Given the description of an element on the screen output the (x, y) to click on. 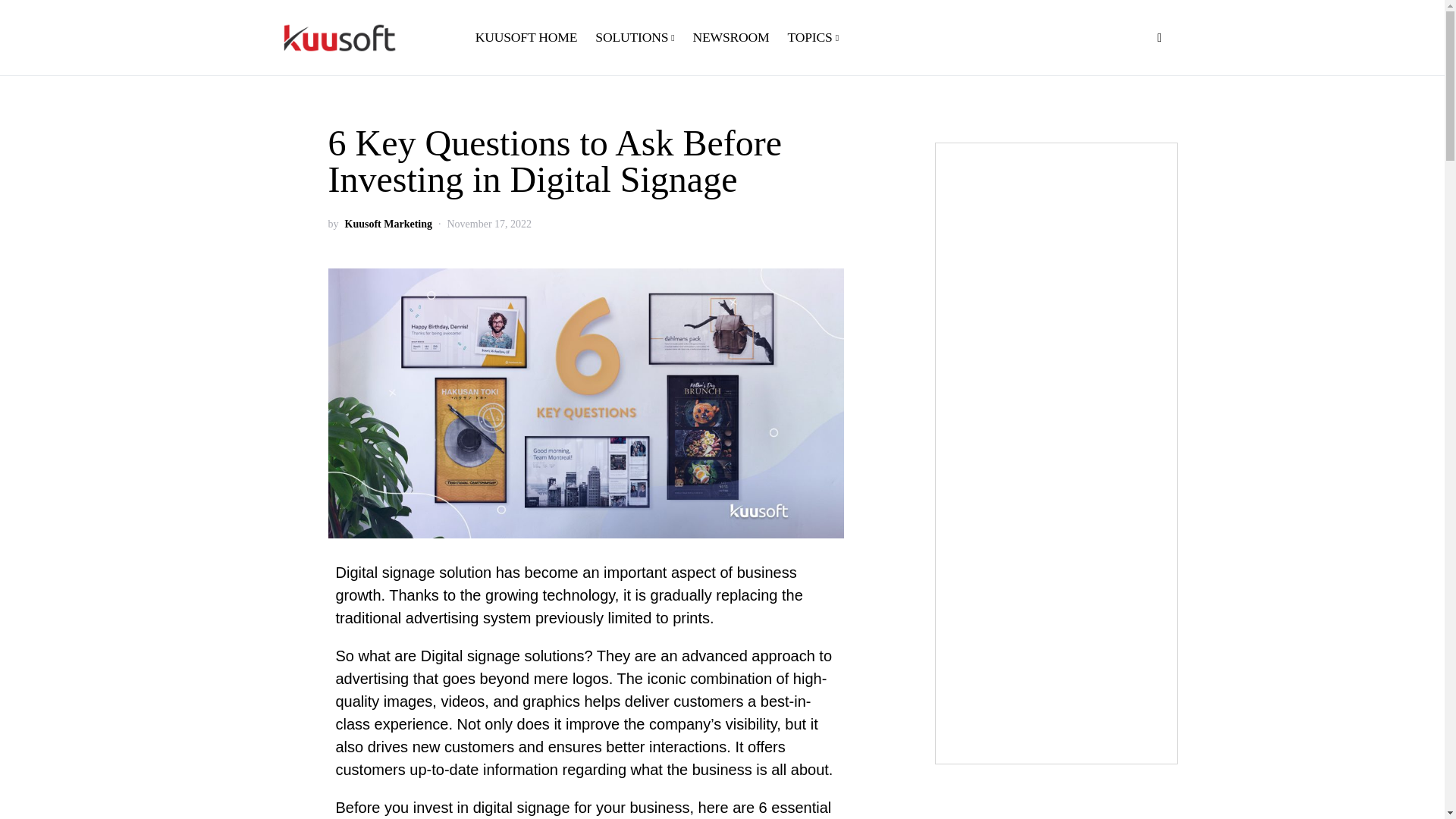
NEWSROOM (729, 38)
SOLUTIONS (634, 38)
KUUSOFT HOME (531, 38)
View all posts by Kuusoft Marketing (387, 223)
Kuusoft Marketing (387, 223)
